Given the description of an element on the screen output the (x, y) to click on. 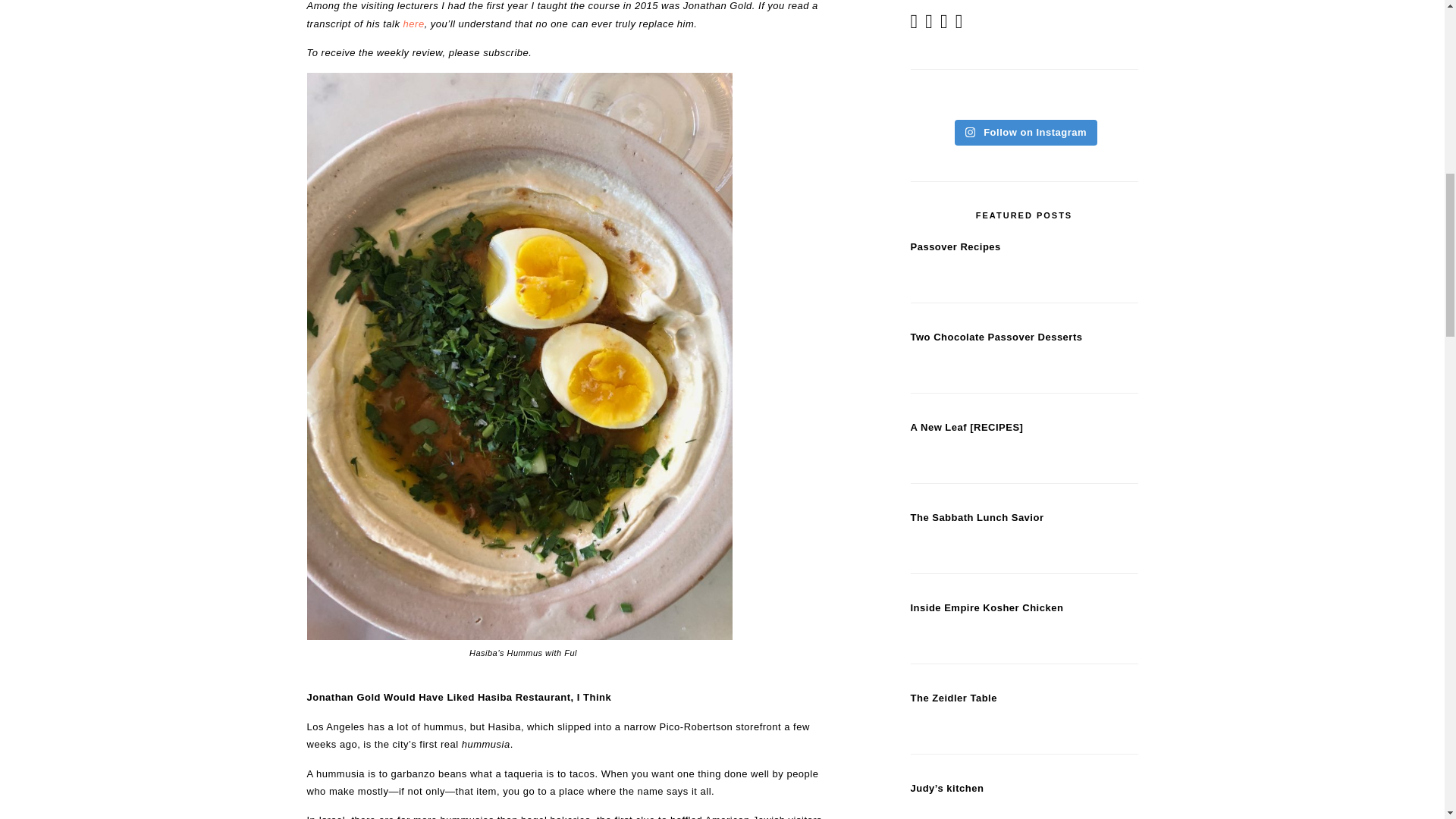
Follow on Instagram (1026, 132)
The Sabbath Lunch Savior (976, 517)
The Zeidler Table (952, 697)
Passover Recipes (955, 246)
here (414, 23)
Inside Empire Kosher Chicken (986, 607)
Two Chocolate Passover Desserts (995, 337)
